Given the description of an element on the screen output the (x, y) to click on. 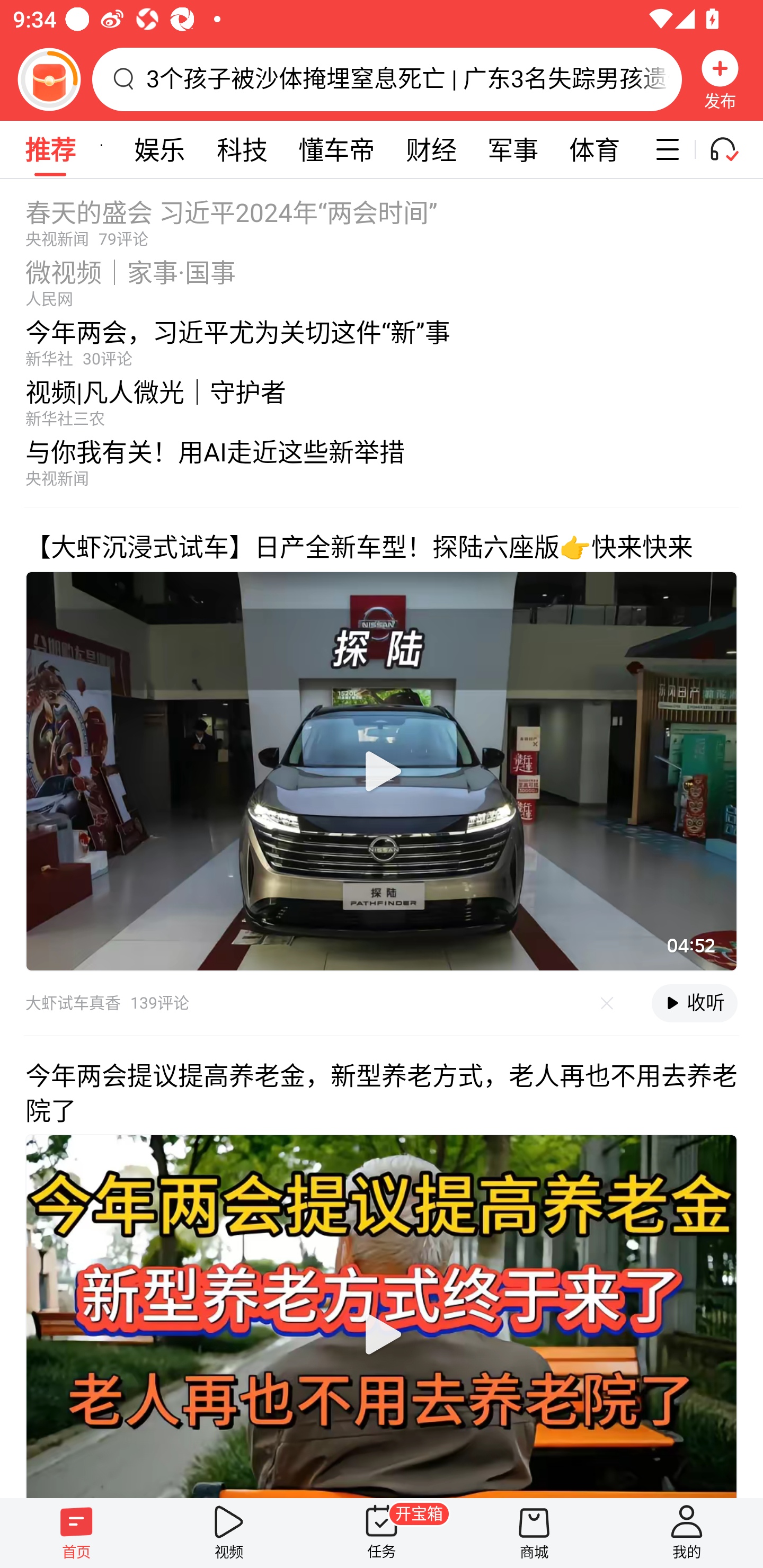
阅读赚金币 (48, 79)
发布 发布，按钮 (720, 78)
推荐 (49, 149)
娱乐 (159, 149)
科技 (241, 149)
懂车帝 (336, 149)
财经 (430, 149)
军事 (512, 149)
体育 (594, 149)
听一听开关 (732, 149)
微视频｜家事·国事人民网 视频 微视频｜家事·国事 人民网 (381, 277)
视频|凡人微光｜守护者新华社三农 文章 视频|凡人微光｜守护者 新华社三农 (381, 398)
与你我有关！用AI走近这些新举措央视新闻 文章 与你我有关！用AI走近这些新举措 央视新闻 (381, 467)
播放视频 视频播放器，双击屏幕打开播放控制 (381, 771)
播放视频 (381, 771)
收听 (694, 1003)
播放视频 视频播放器，双击屏幕打开播放控制 (381, 1315)
播放视频 (381, 1334)
首页 (76, 1532)
视频 (228, 1532)
任务 开宝箱 (381, 1532)
商城 (533, 1532)
我的 (686, 1532)
